Given the description of an element on the screen output the (x, y) to click on. 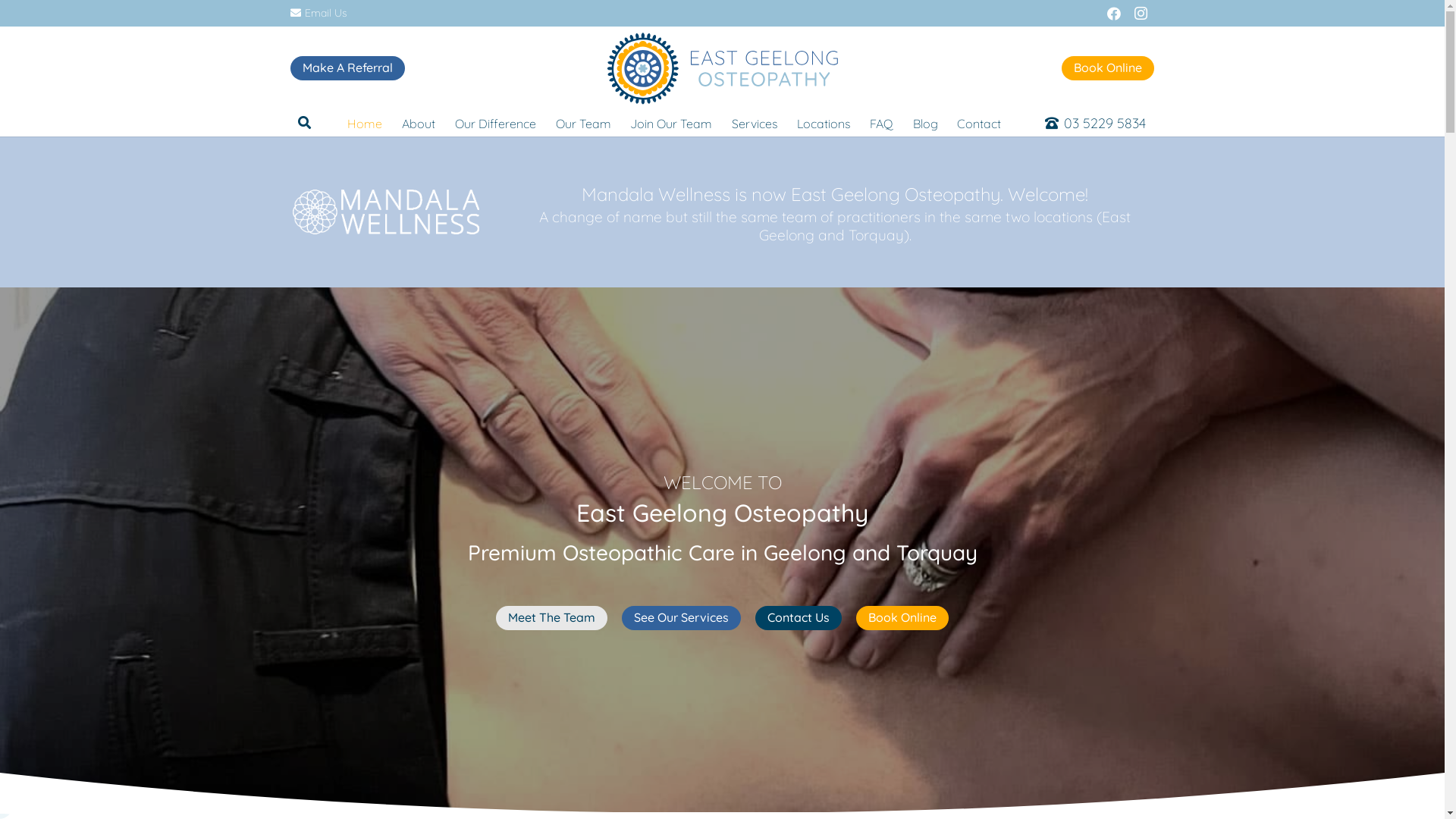
Our Team Element type: text (583, 123)
Our Difference Element type: text (495, 123)
03 5229 5834 Element type: text (1094, 122)
Blog Element type: text (925, 123)
Meet The Team Element type: text (551, 617)
Book Online Element type: text (1107, 68)
Facebook Element type: hover (1112, 13)
Home Element type: text (364, 123)
Email Us Element type: text (318, 12)
About Element type: text (418, 123)
Book Online Element type: text (902, 617)
Contact Element type: text (978, 123)
See Our Services Element type: text (680, 617)
Join Our Team Element type: text (671, 123)
FAQ Element type: text (881, 123)
Locations Element type: text (823, 123)
Services Element type: text (754, 123)
Make A Referral Element type: text (346, 68)
Instagram Element type: hover (1140, 13)
Contact Us Element type: text (798, 617)
